Given the description of an element on the screen output the (x, y) to click on. 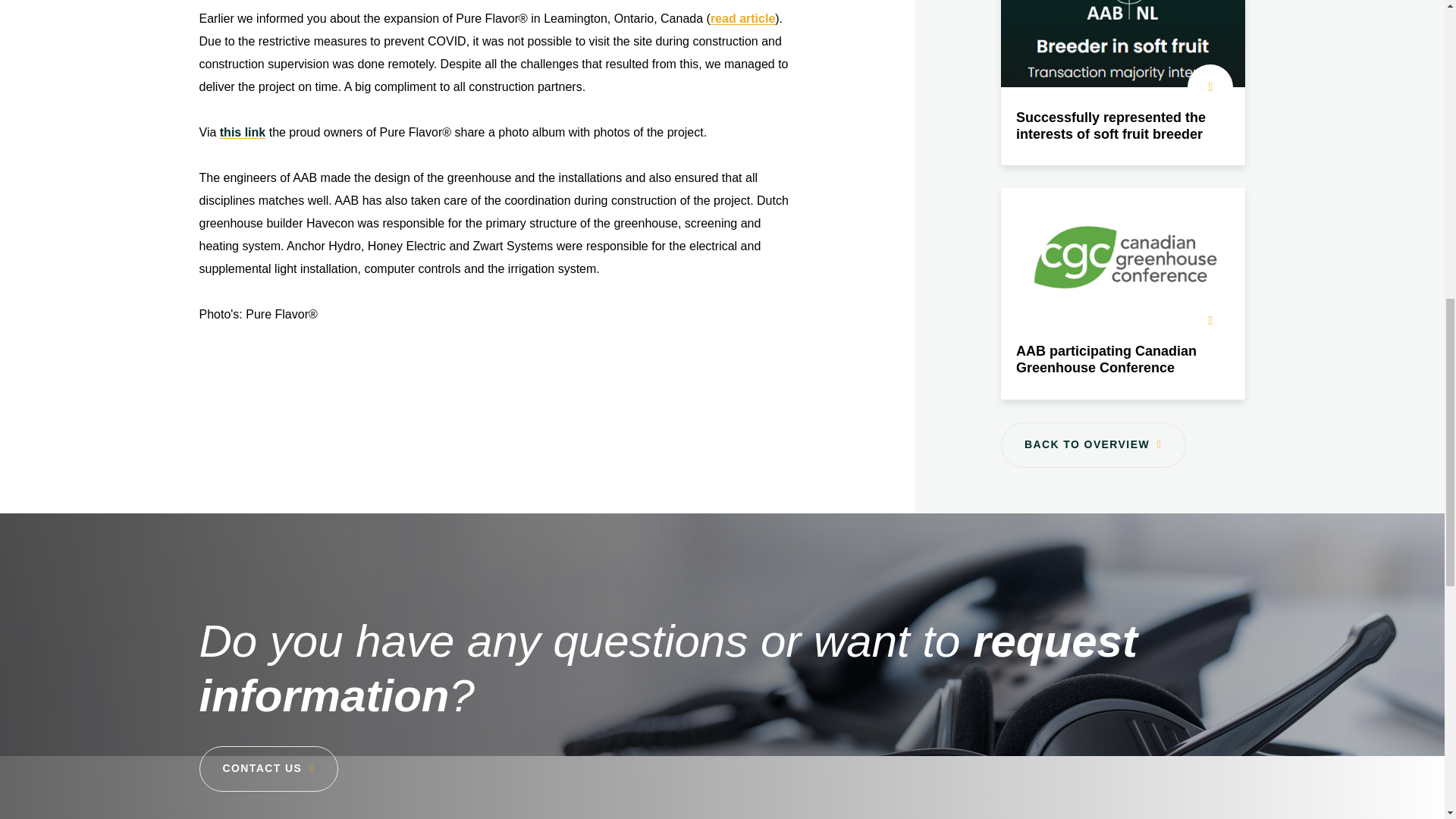
BACK TO OVERVIEW (1093, 444)
Successfully represented the interests of soft fruit breeder (1123, 82)
AAB participating Canadian Greenhouse Conference (1123, 293)
this link (241, 132)
read article (742, 18)
